Given the description of an element on the screen output the (x, y) to click on. 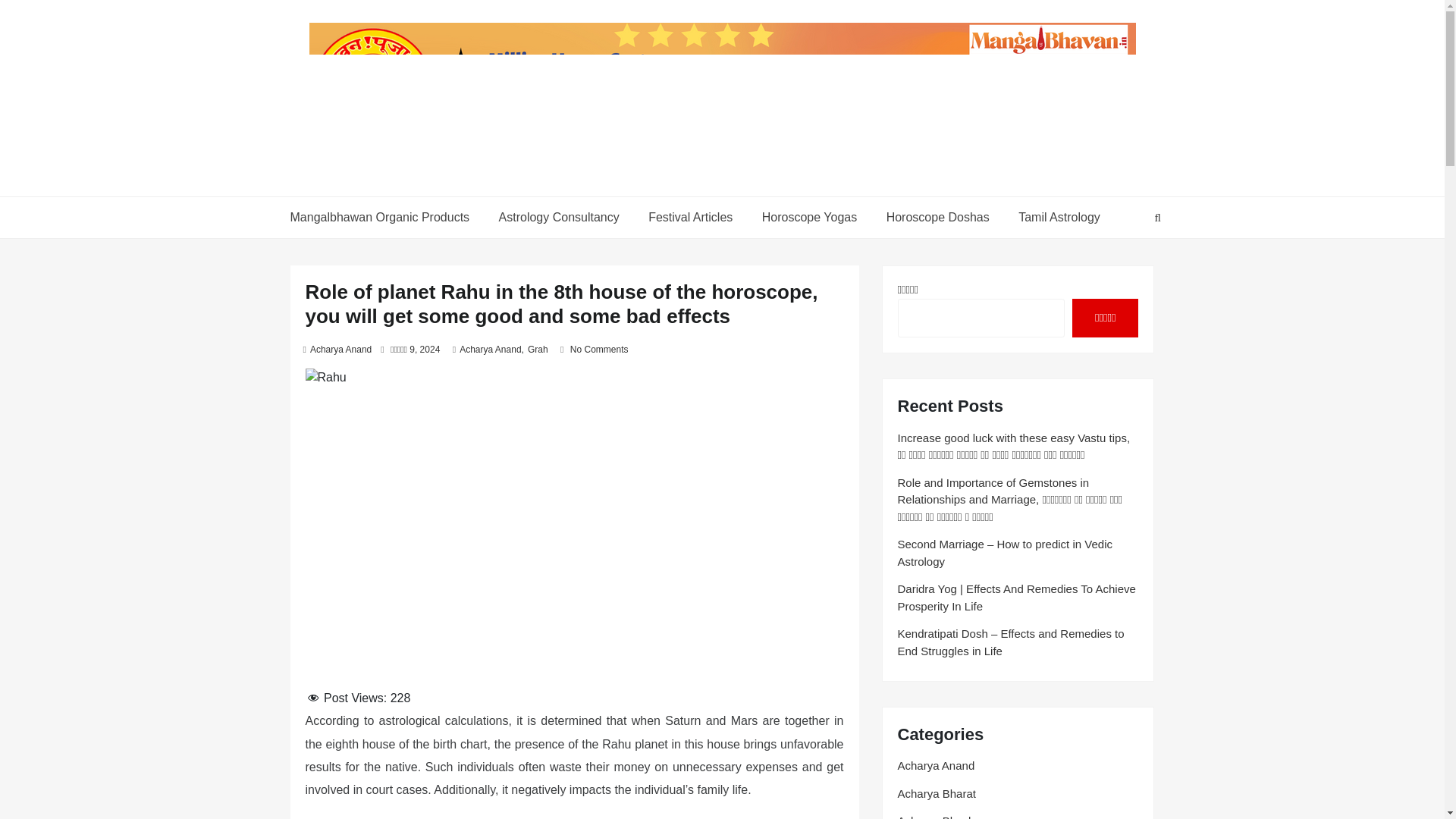
Astrology Consultancy (558, 217)
No Comments (599, 348)
Acharya Anand (490, 348)
Grah (537, 348)
Acharya Anand (340, 348)
Festival Articles (689, 217)
Horoscope Yogas (809, 217)
Mangalbhawan Organic Products (385, 217)
Tamil Astrology (1057, 217)
Horoscope Doshas (938, 217)
